Given the description of an element on the screen output the (x, y) to click on. 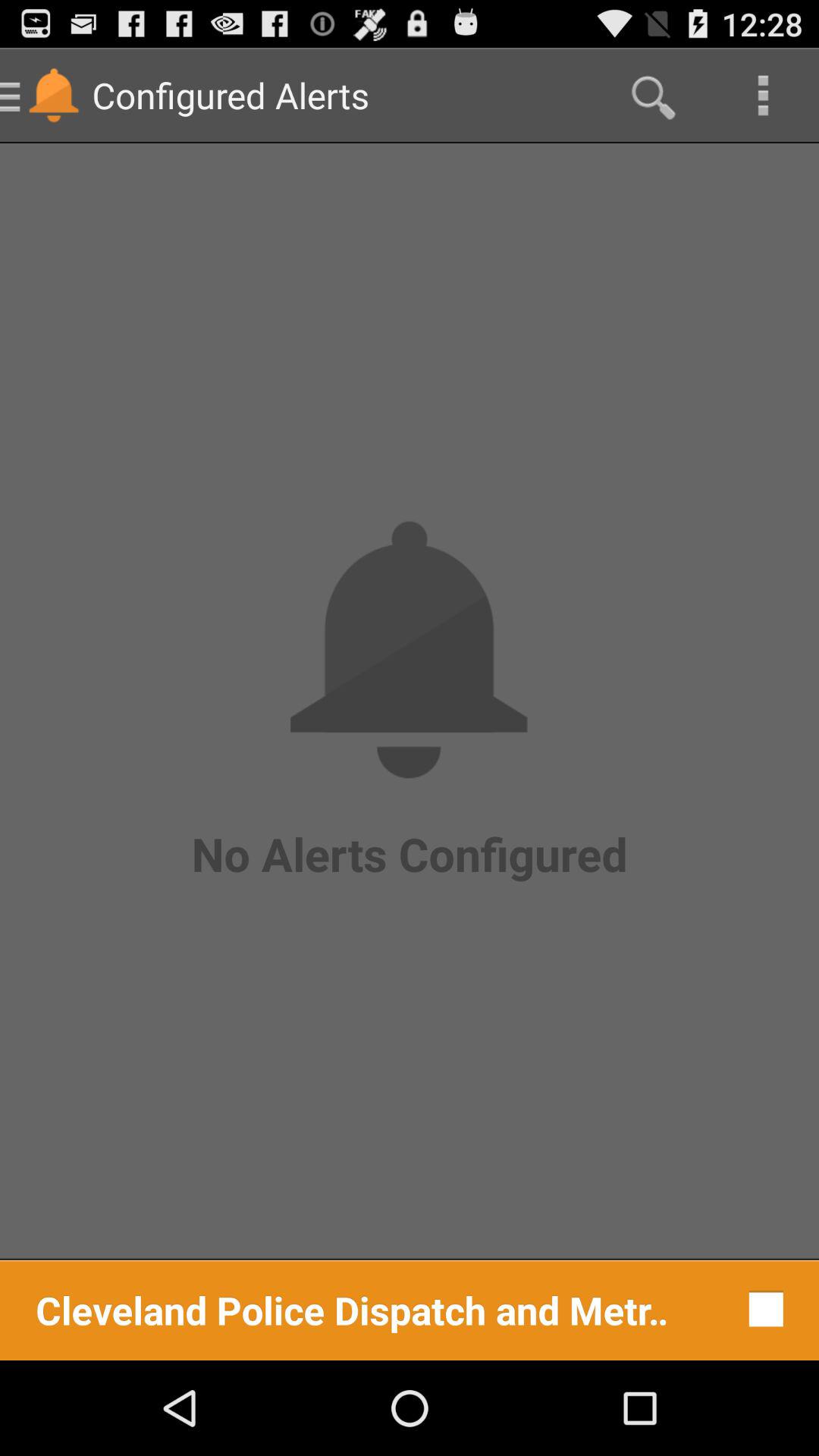
tap the app to the right of the configured alerts app (651, 95)
